Given the description of an element on the screen output the (x, y) to click on. 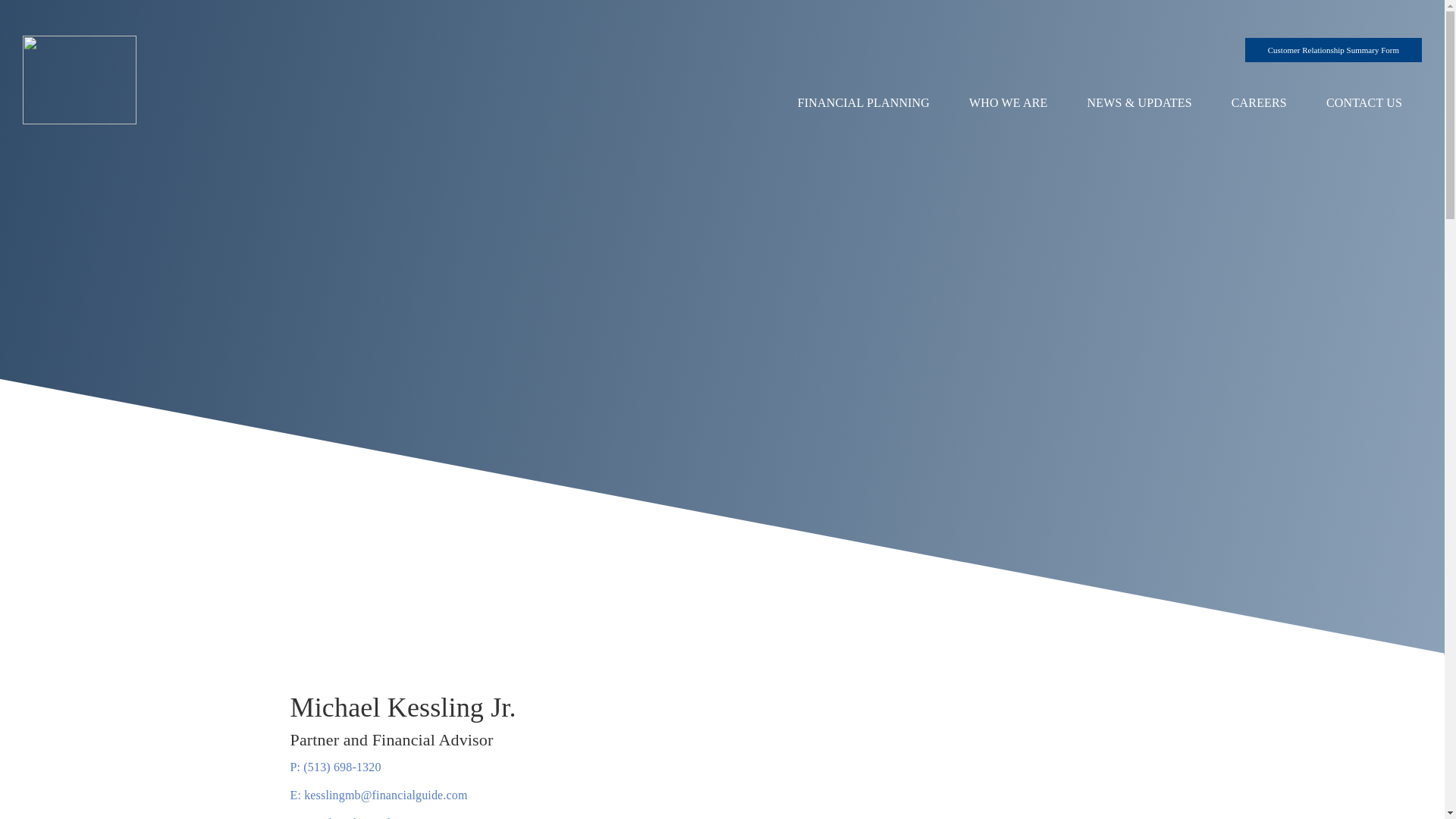
CAREERS (1258, 103)
WHO WE ARE (499, 816)
FINANCIAL PLANNING (1008, 103)
skylight-Financial-Group (863, 103)
Customer Relationship Summary Form (79, 79)
CONTACT US (1333, 49)
